Given the description of an element on the screen output the (x, y) to click on. 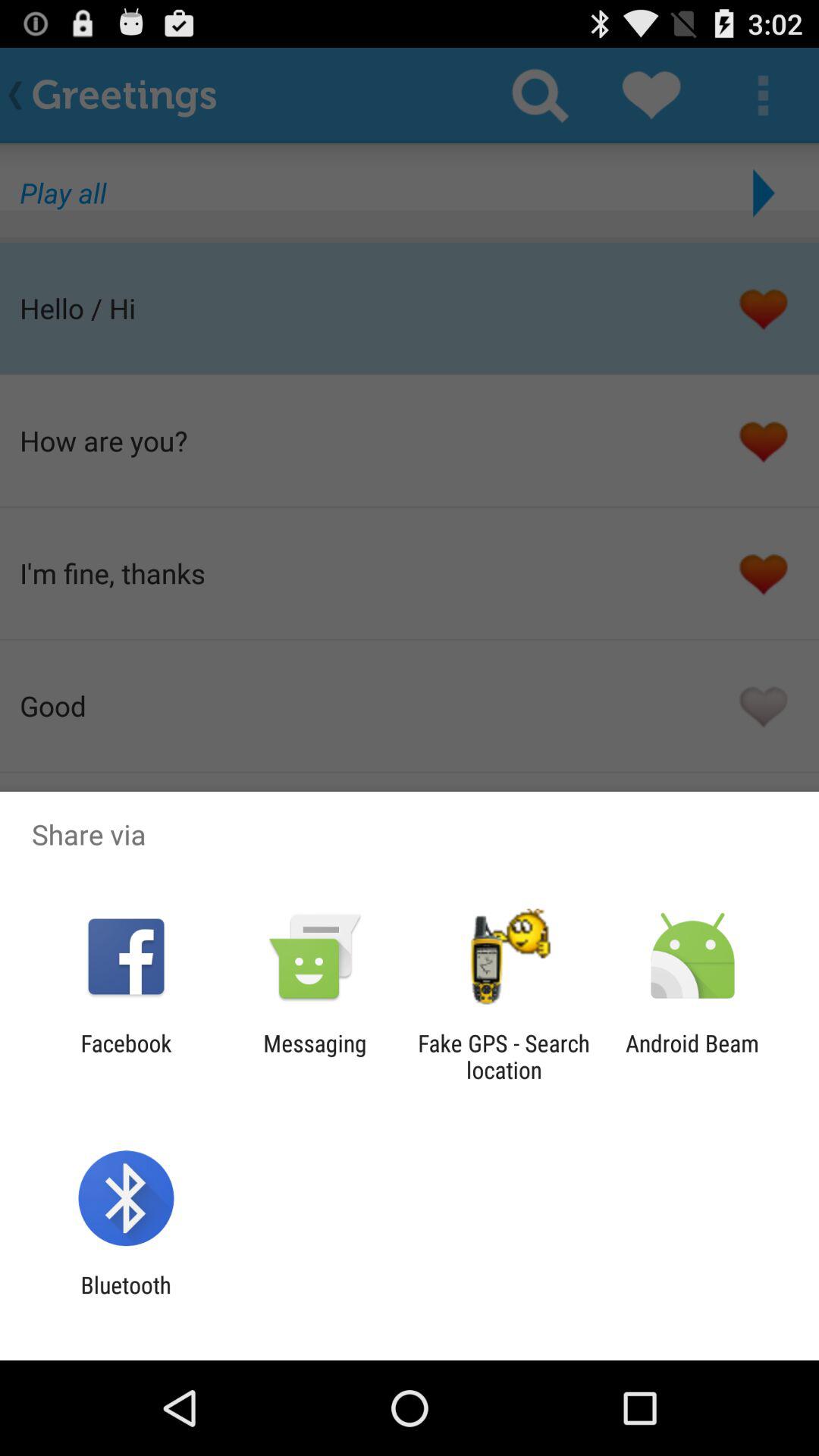
launch icon at the bottom right corner (692, 1056)
